Given the description of an element on the screen output the (x, y) to click on. 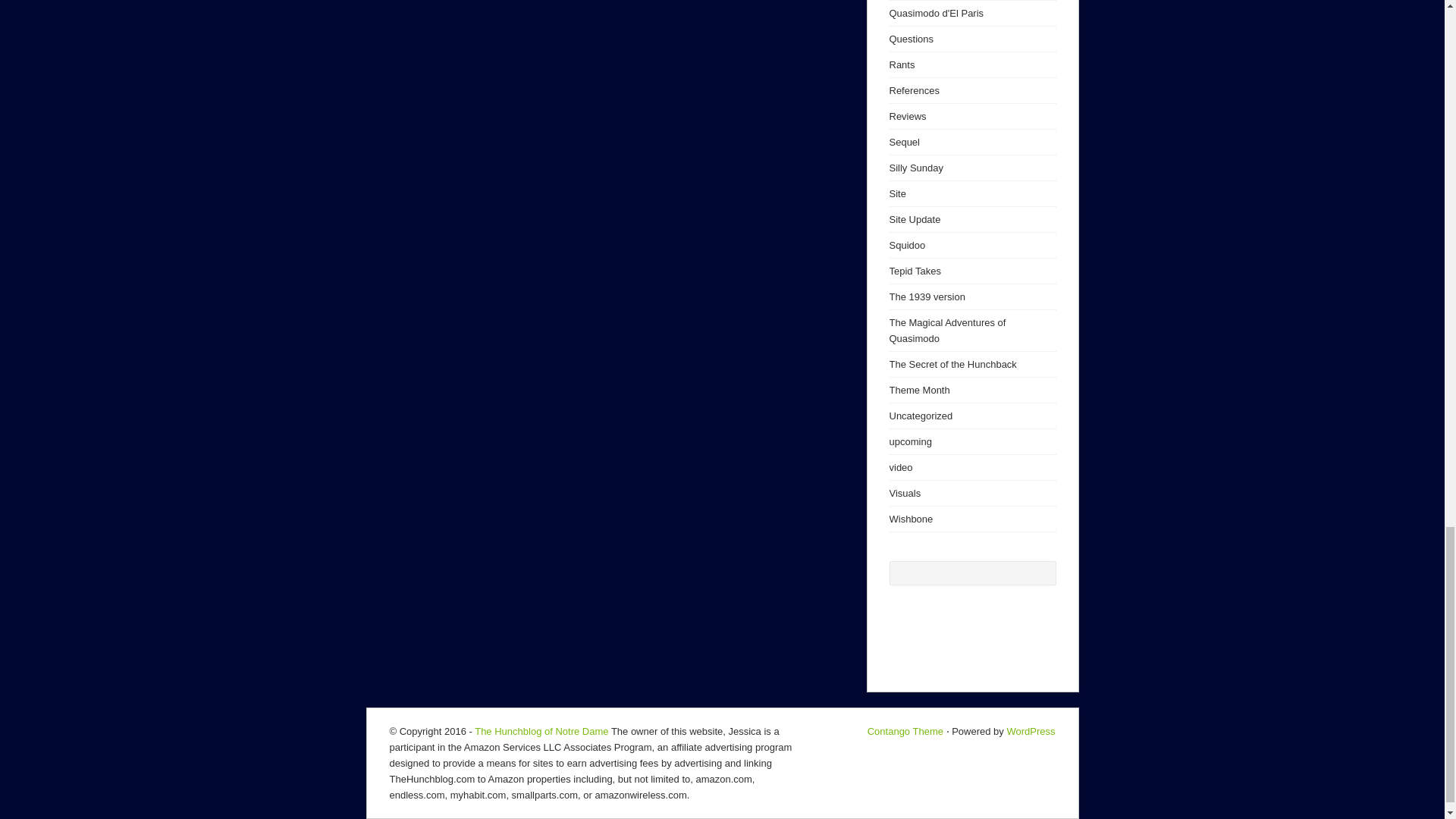
WordPress (1030, 731)
Contango Theme (905, 731)
